Given the description of an element on the screen output the (x, y) to click on. 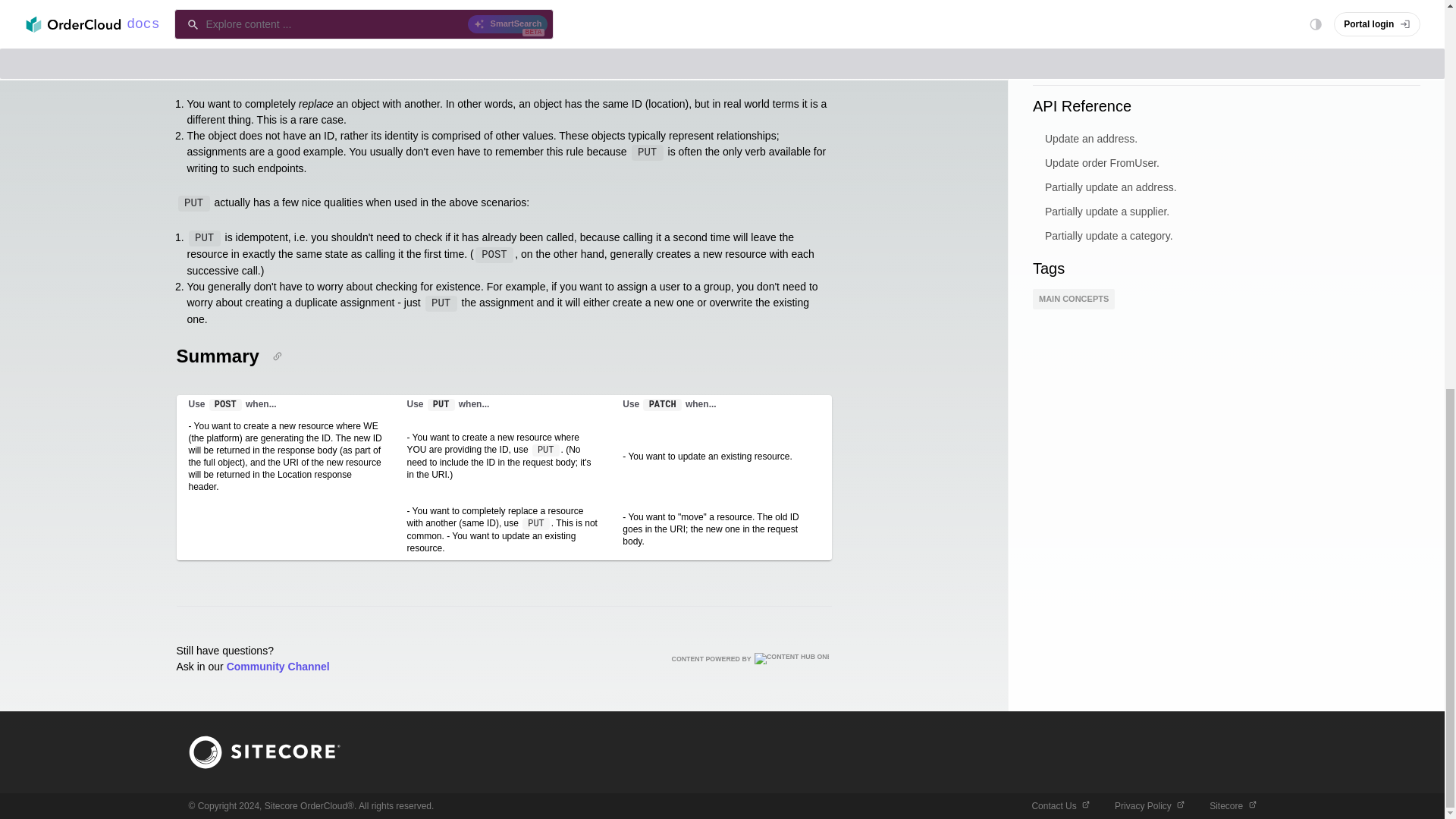
Contact Us (1059, 806)
Sitecore (1232, 806)
CONTENT POWERED BY (751, 658)
Privacy Policy (1150, 806)
Community Channel (278, 666)
